Given the description of an element on the screen output the (x, y) to click on. 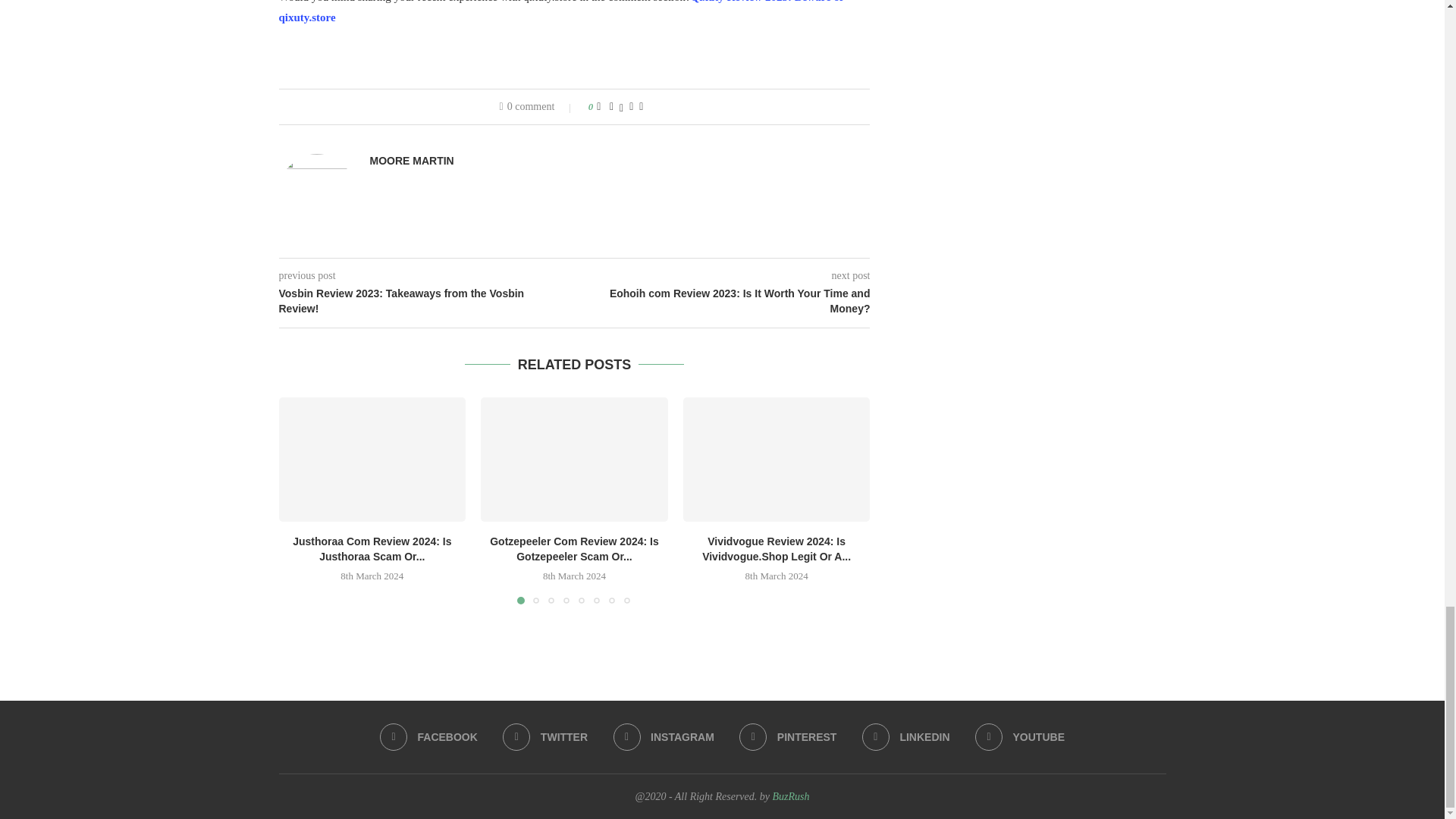
Qixuty Review 2023: Beware of qixuty.store (561, 11)
